Given the description of an element on the screen output the (x, y) to click on. 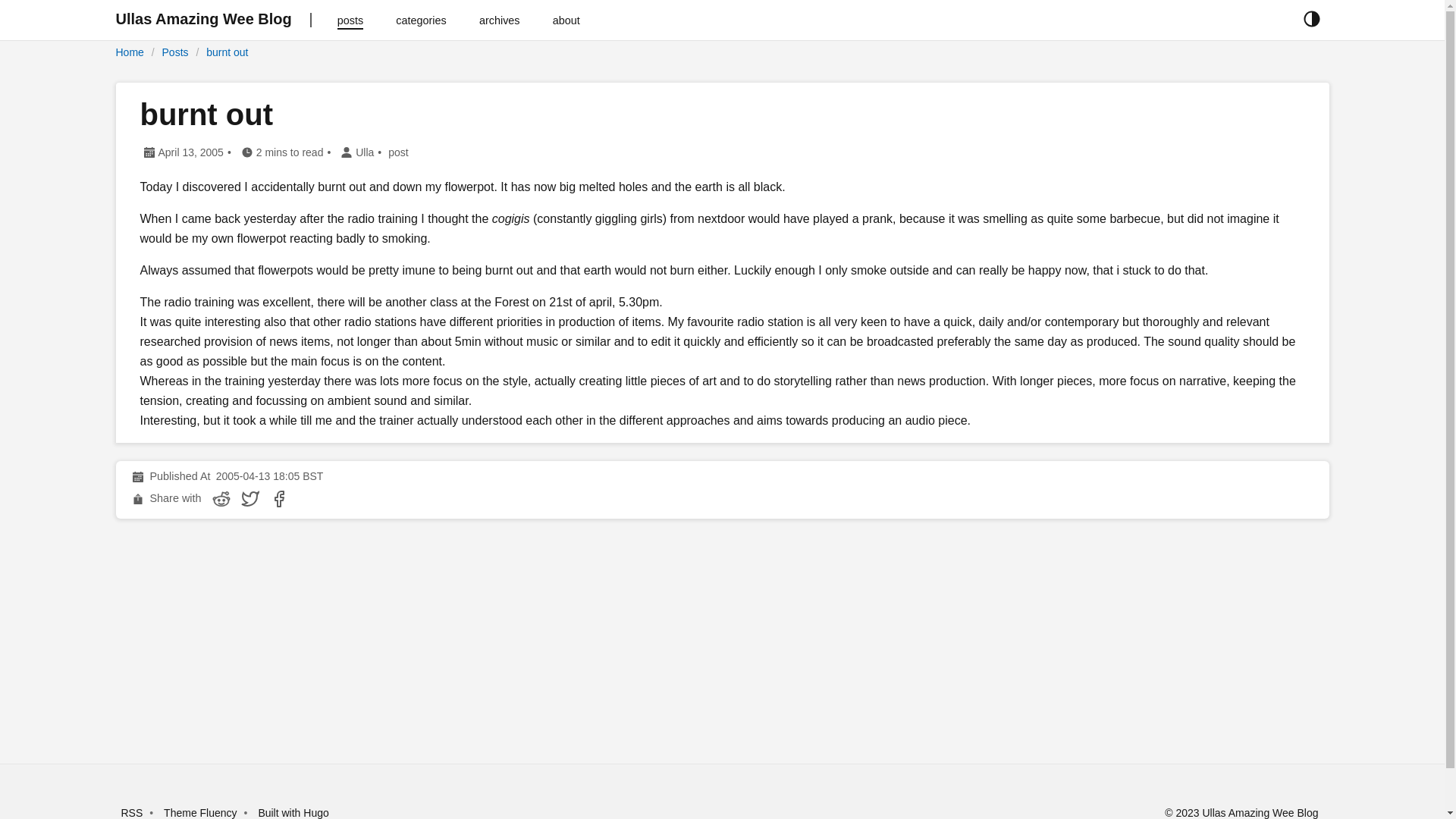
about (565, 19)
Ullas Amazing Wee Blog (203, 20)
burnt out (226, 51)
share to facebook (278, 498)
Built with Hugo (293, 812)
categories (421, 19)
about (565, 19)
archives (499, 19)
share to twitter (250, 498)
categories (421, 19)
